Given the description of an element on the screen output the (x, y) to click on. 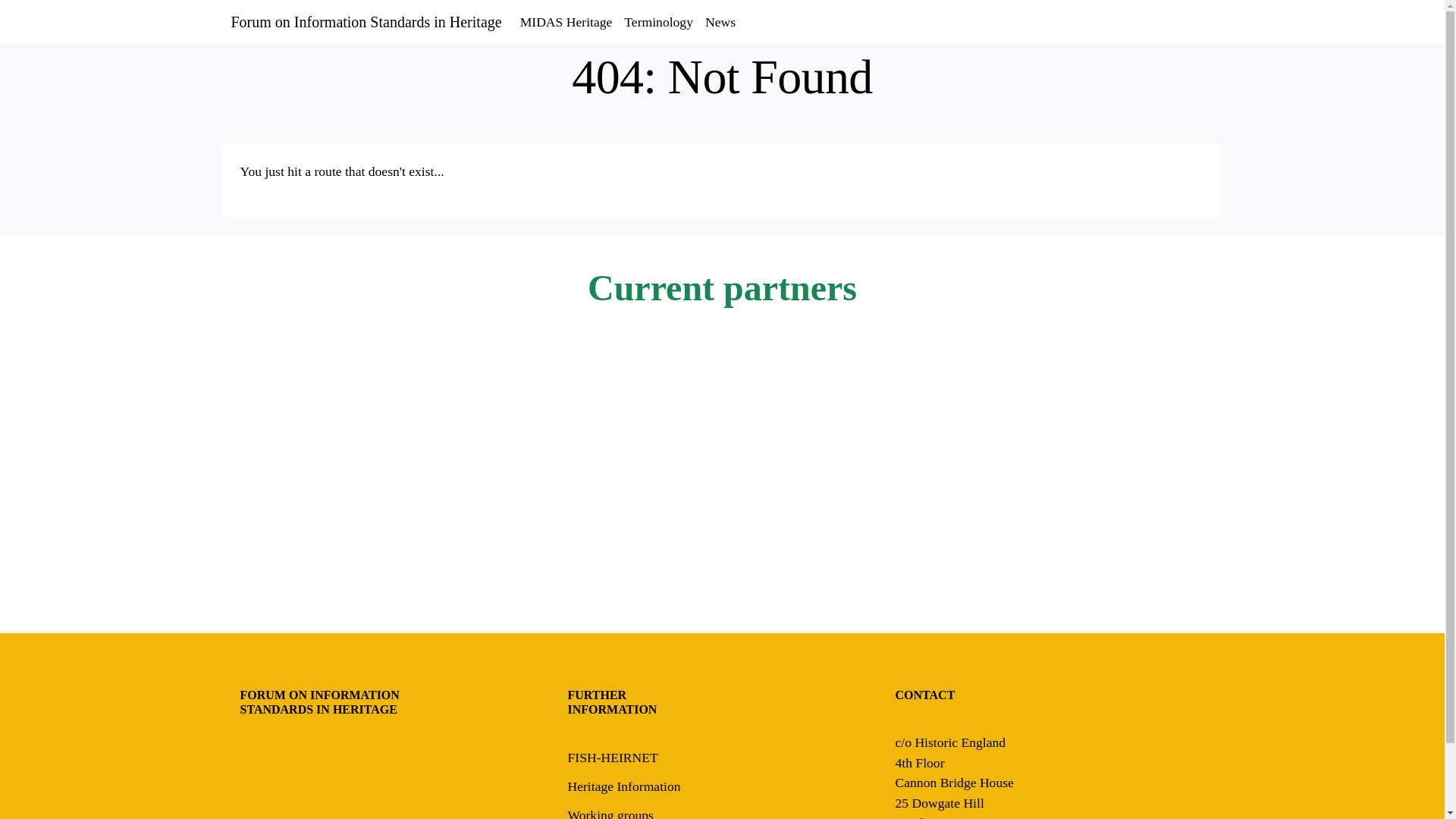
Terminology (657, 21)
MIDAS Heritage (565, 21)
Working groups (609, 813)
FISH-HEIRNET (612, 757)
News (719, 21)
Forum on Information Standards in Heritage (365, 21)
Heritage Information (623, 785)
